Given the description of an element on the screen output the (x, y) to click on. 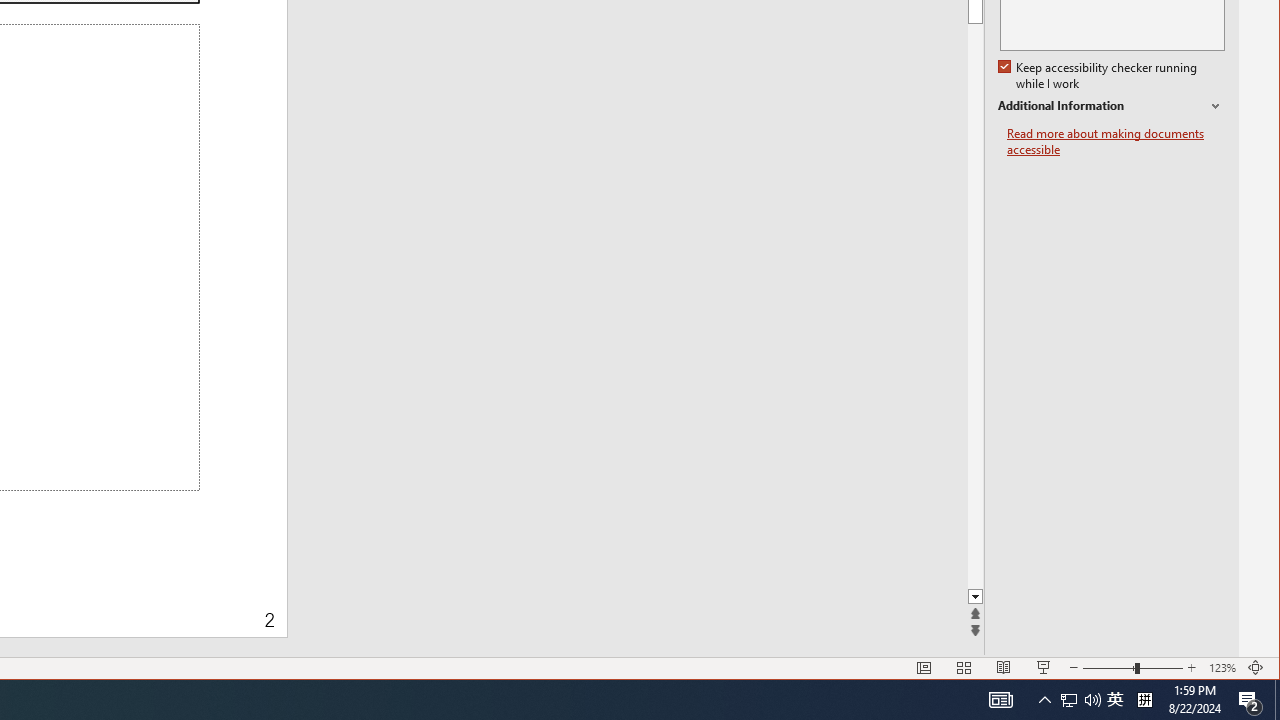
Keep accessibility checker running while I work (1099, 76)
Line down (1230, 597)
Additional Information (1111, 106)
Zoom 123% (1222, 668)
Page down (1230, 305)
Notification Chevron (1044, 699)
Q2790: 100% (1092, 699)
User Promoted Notification Area (1080, 699)
Action Center, 2 new notifications (1250, 699)
